Given the description of an element on the screen output the (x, y) to click on. 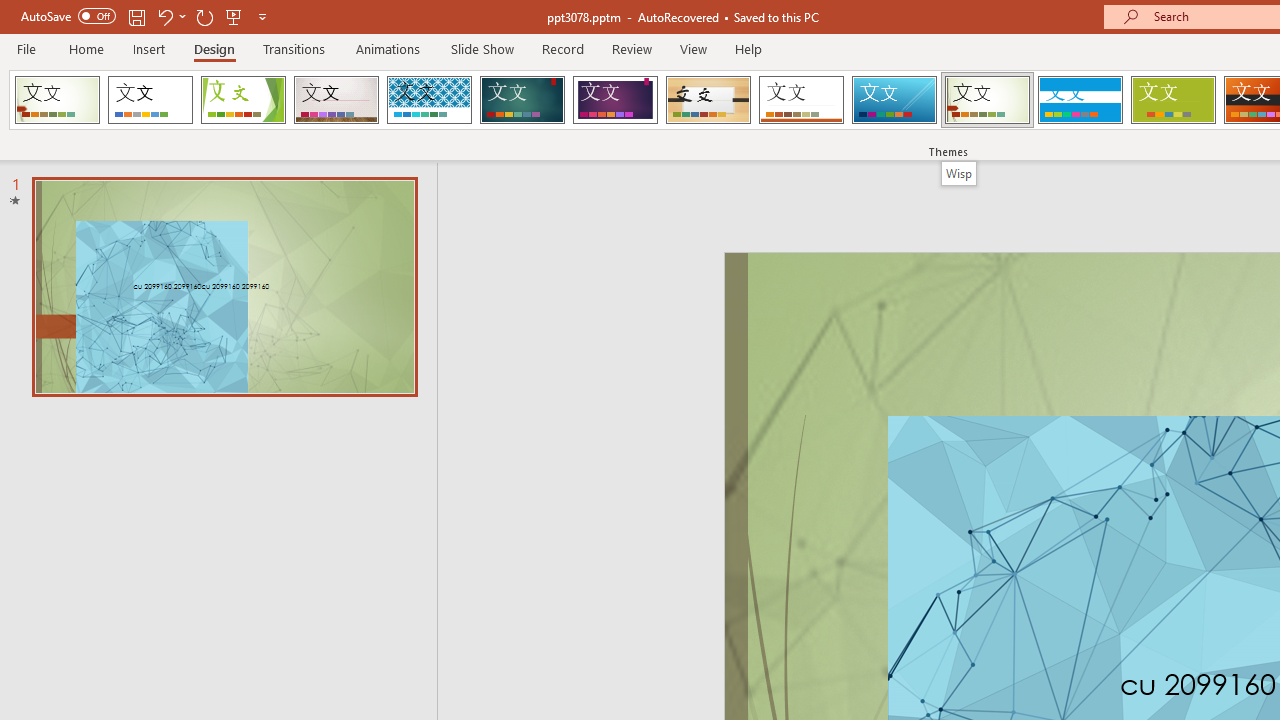
Design (214, 48)
Ion Boardroom Loading Preview... (615, 100)
Integral Loading Preview... (429, 100)
Gallery (336, 100)
Wisp Loading Preview... (987, 100)
Retrospect Loading Preview... (801, 100)
Home (86, 48)
Animations (388, 48)
Save (136, 15)
Basis Loading Preview... (1172, 100)
Quick Access Toolbar (145, 16)
Transitions (294, 48)
Slice Loading Preview... (893, 100)
